Given the description of an element on the screen output the (x, y) to click on. 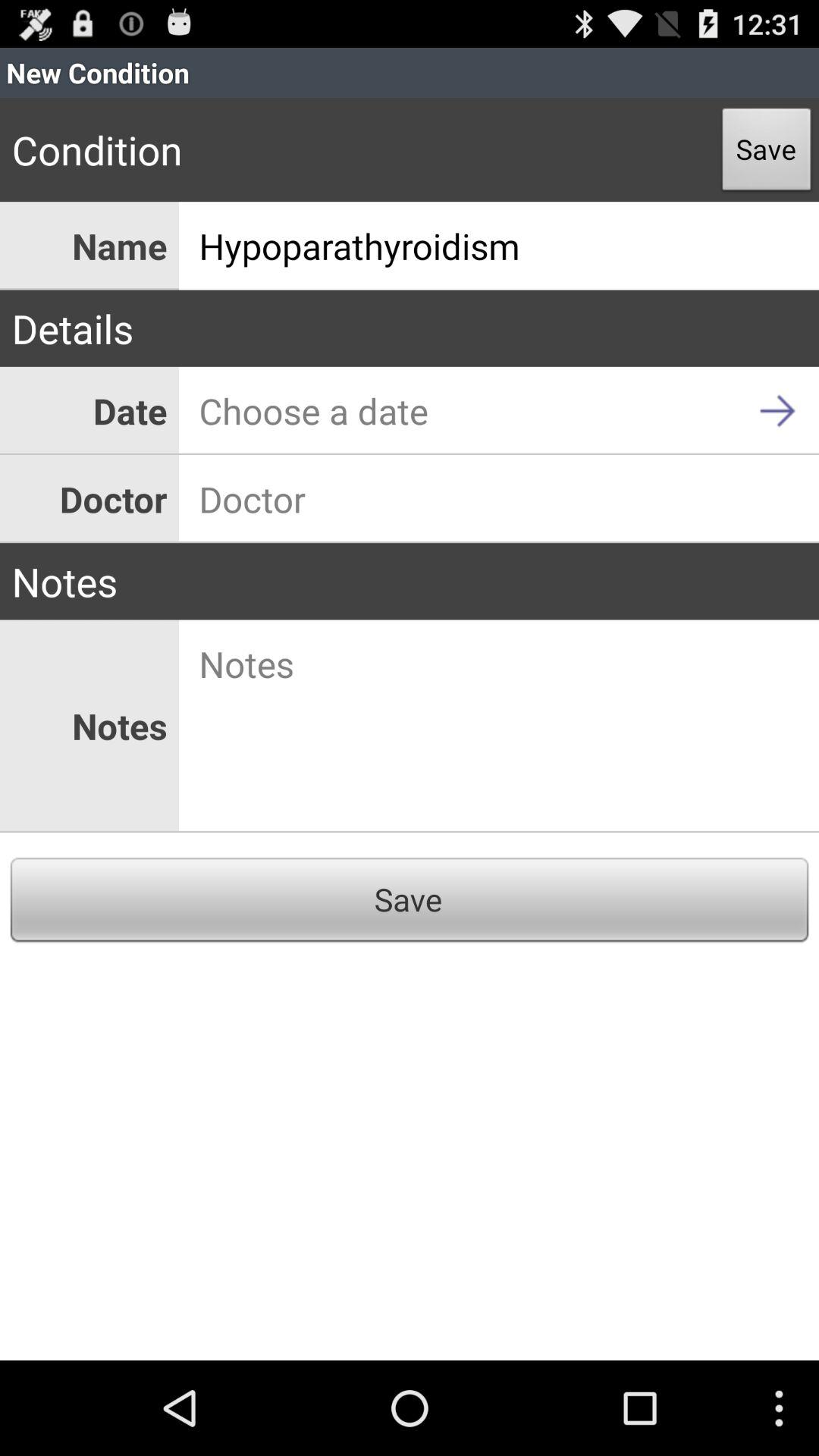
select icon above doctor icon (499, 410)
